Given the description of an element on the screen output the (x, y) to click on. 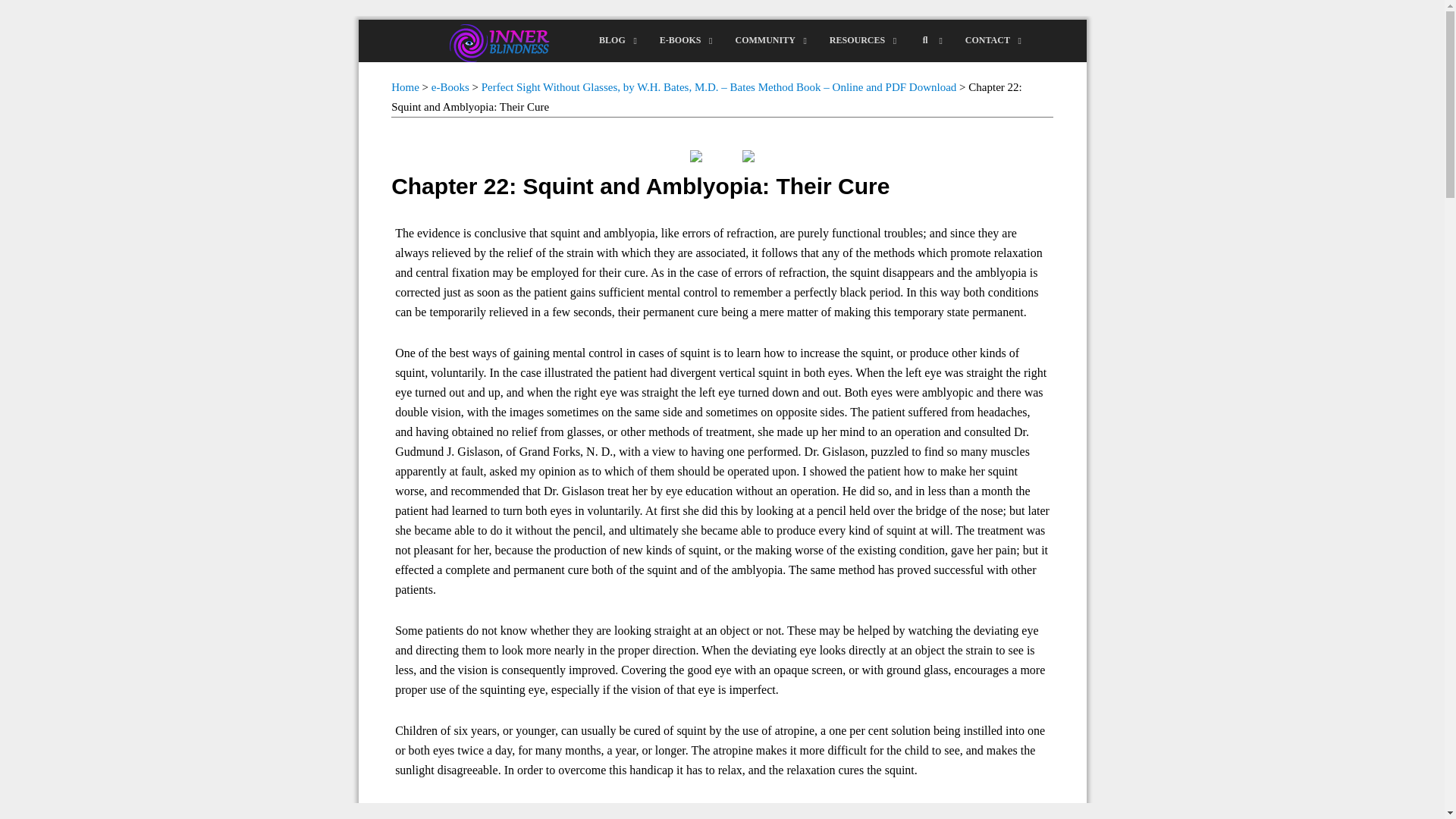
COMMUNITY (766, 40)
Chapter 23: Floating Specks: Their Cause and Cure (748, 155)
e-Books (722, 40)
Go to e-Books. (449, 87)
Home (449, 87)
Go to Inner Blindness. (405, 87)
E-BOOKS (405, 87)
Chapter 21: Squint and Amblyopia: Their Cause (682, 40)
